Given the description of an element on the screen output the (x, y) to click on. 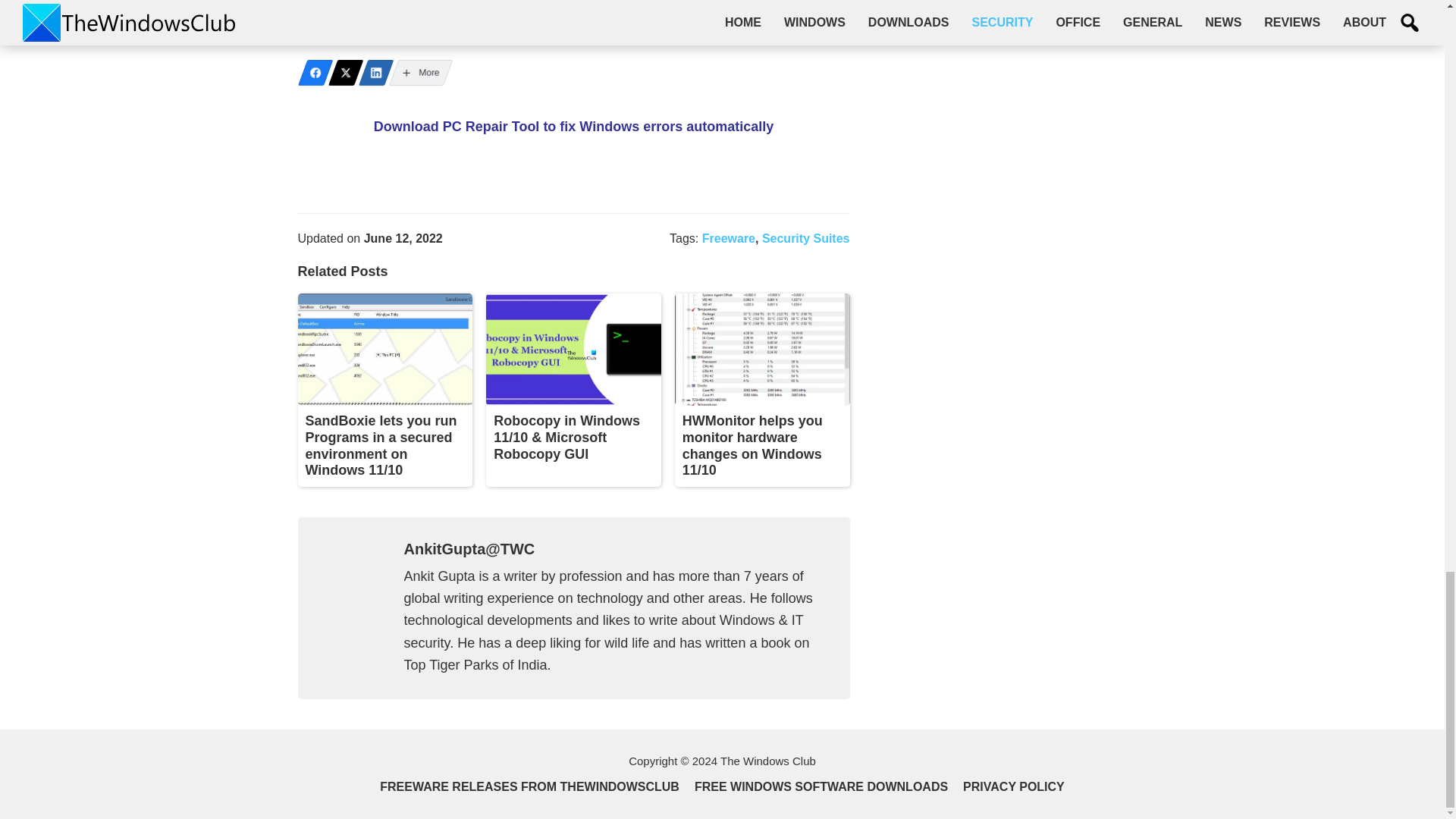
Freeware (728, 237)
More (415, 72)
Security Suites (805, 237)
Download PC Repair Tool to fix Windows errors automatically (574, 126)
